Given the description of an element on the screen output the (x, y) to click on. 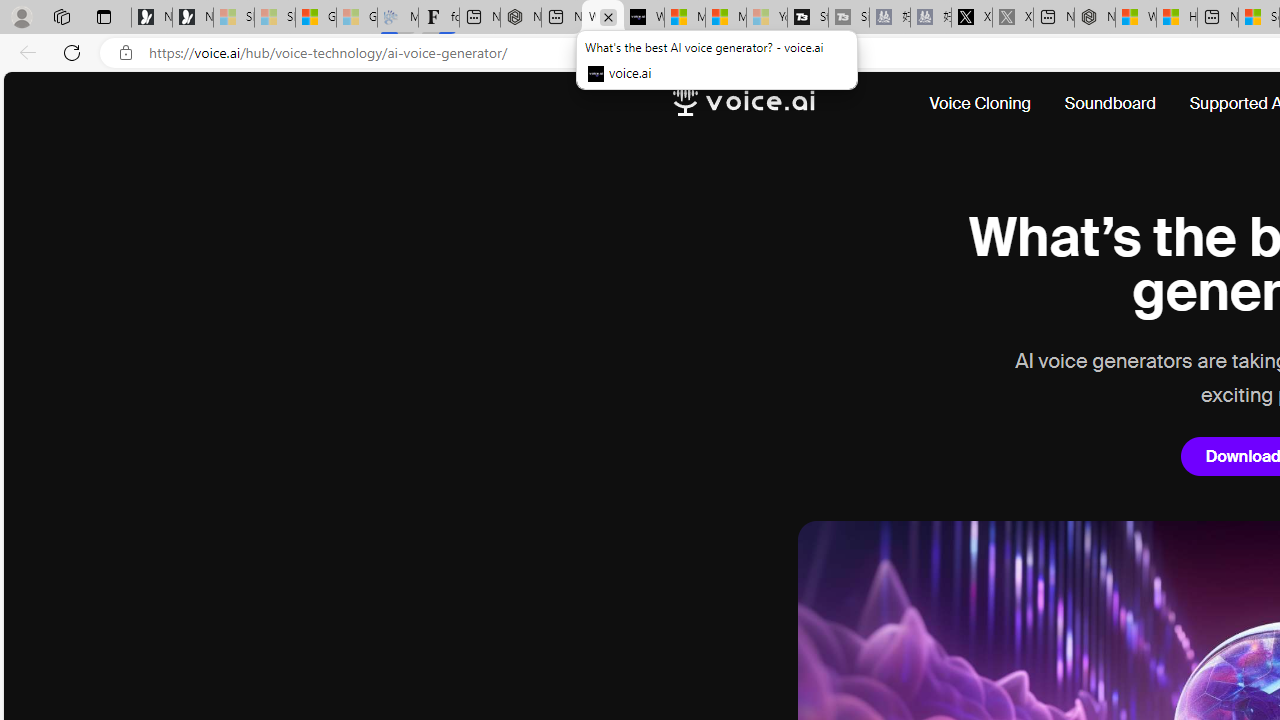
Soundboard (1109, 103)
